Given the description of an element on the screen output the (x, y) to click on. 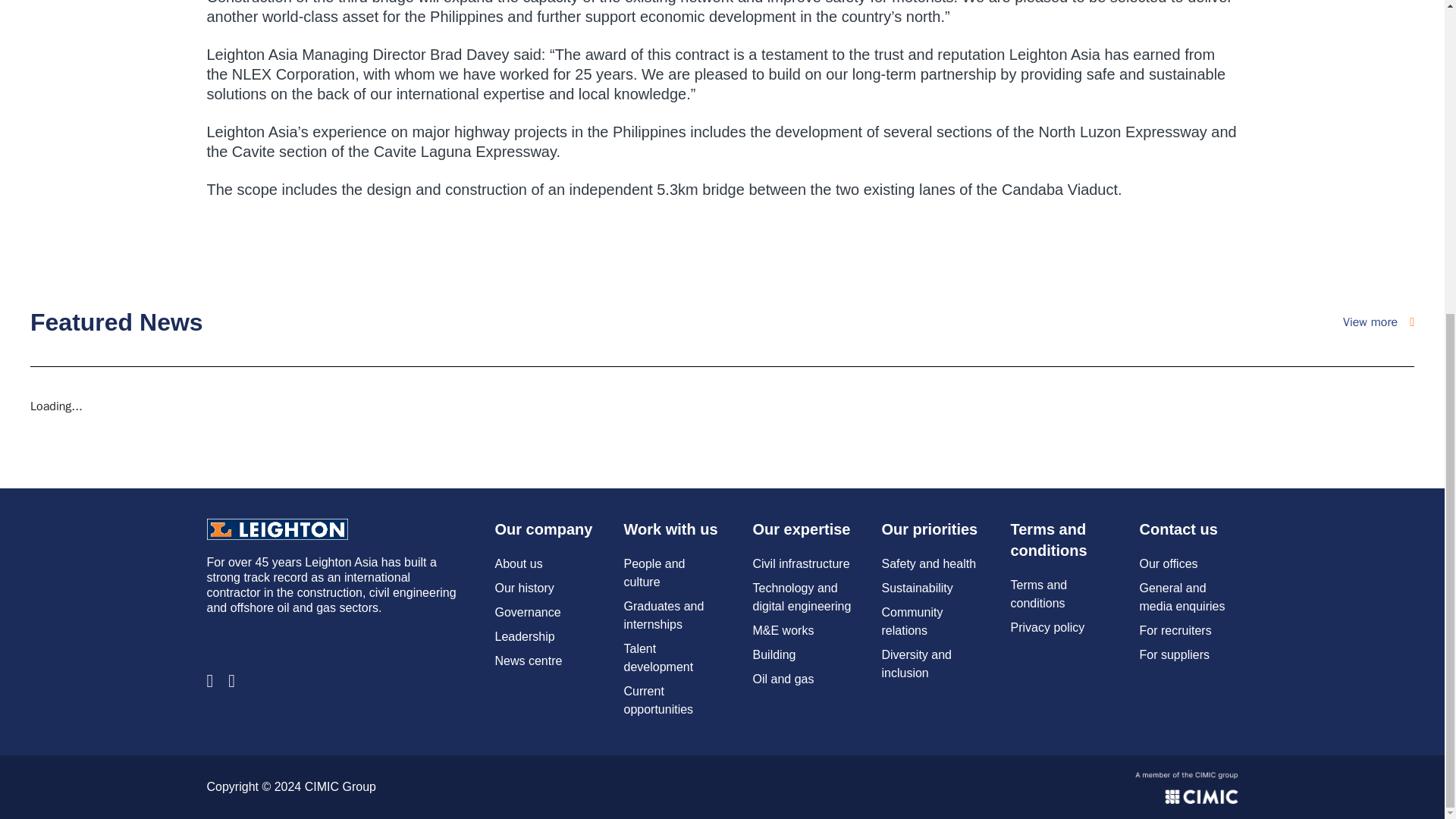
Technology and digital engineering (801, 596)
People and culture (653, 572)
Leadership (524, 635)
View more (1377, 321)
Safety and health (927, 563)
Graduates and internships (663, 614)
Our offices (1167, 563)
Privacy policy (1047, 626)
Talent development (658, 657)
News centre (528, 660)
